Given the description of an element on the screen output the (x, y) to click on. 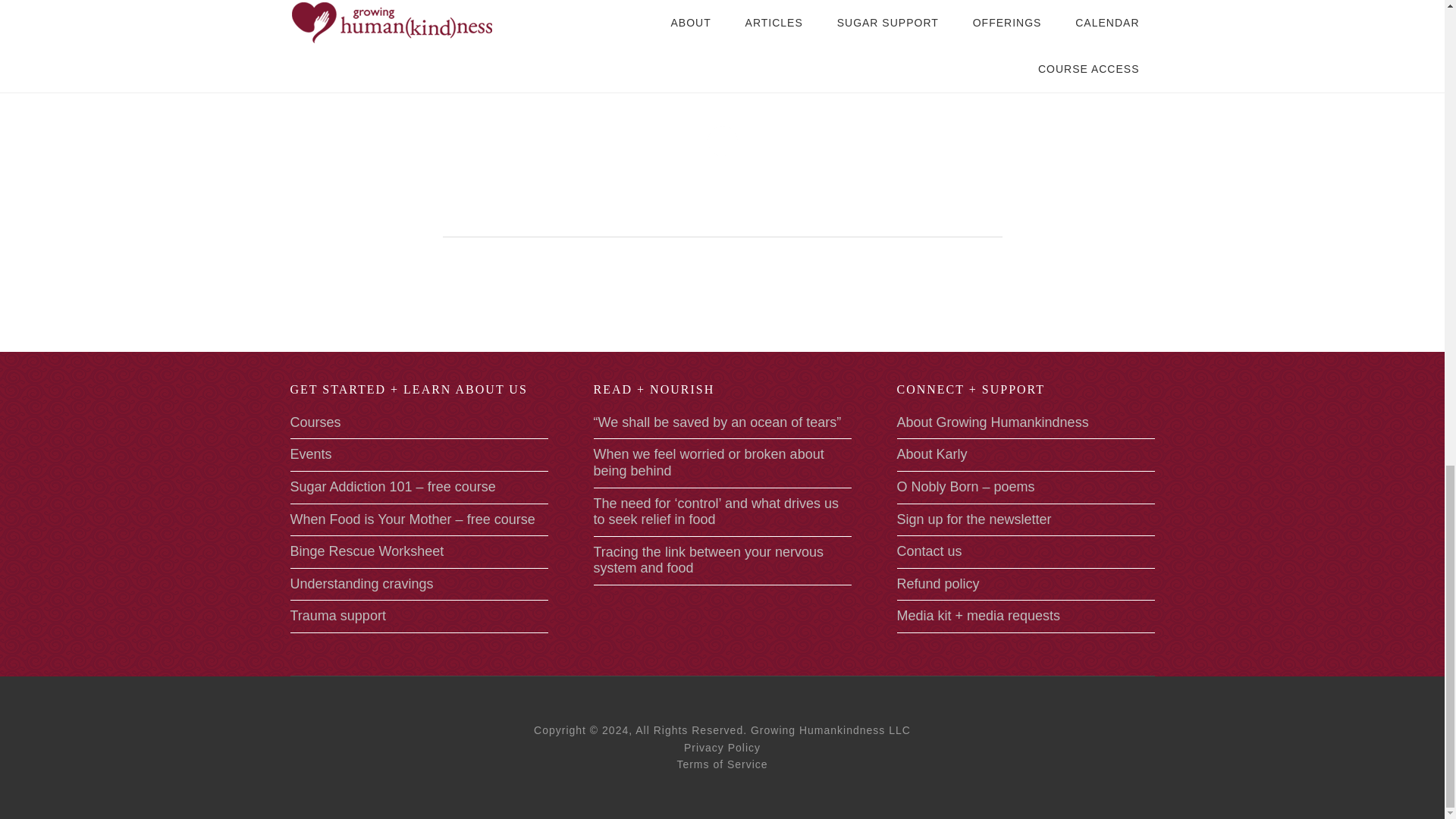
Events (310, 453)
Courses (314, 421)
Binge Rescue Worksheet (366, 550)
About Karly (931, 453)
Privacy Policy (722, 747)
Tracing the link between your nervous system and food (708, 560)
Understanding cravings (360, 583)
Terms of Service (722, 764)
About Growing Humankindness (991, 421)
Refund policy (937, 583)
